Given the description of an element on the screen output the (x, y) to click on. 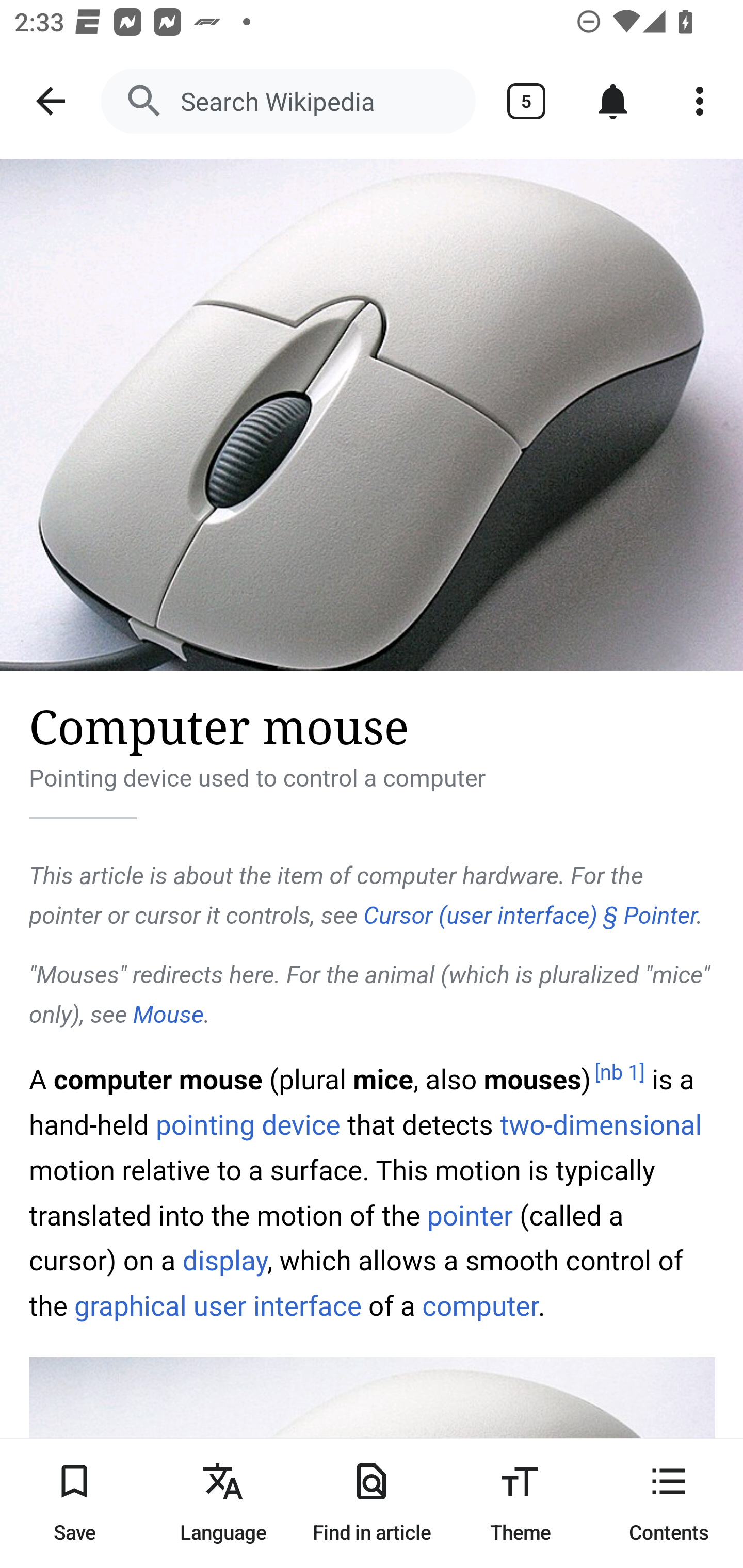
Show tabs 5 (525, 100)
Notifications (612, 100)
Navigate up (50, 101)
More options (699, 101)
Search Wikipedia (288, 100)
Image: Computer mouse (371, 414)
Mouse (167, 1015)
[nb ] [nb  1 ] (619, 1072)
pointing device (248, 1125)
two-dimensional (600, 1125)
pointer (470, 1214)
display (223, 1260)
graphical user interface (217, 1305)
computer (478, 1305)
Save (74, 1502)
Language (222, 1502)
Find in article (371, 1502)
Theme (519, 1502)
Contents (668, 1502)
